Given the description of an element on the screen output the (x, y) to click on. 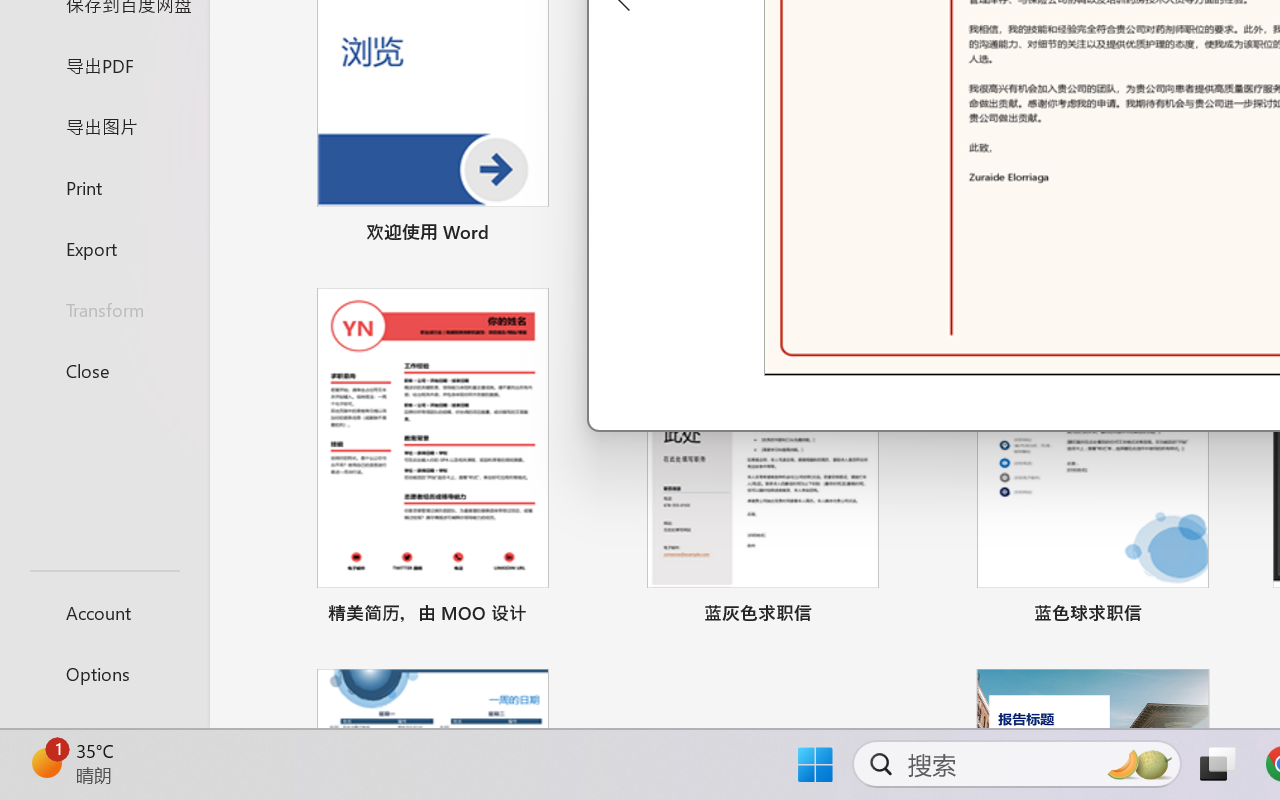
Export (104, 248)
Options (104, 673)
Transform (104, 309)
Print (104, 186)
Pin to list (1223, 616)
